Given the description of an element on the screen output the (x, y) to click on. 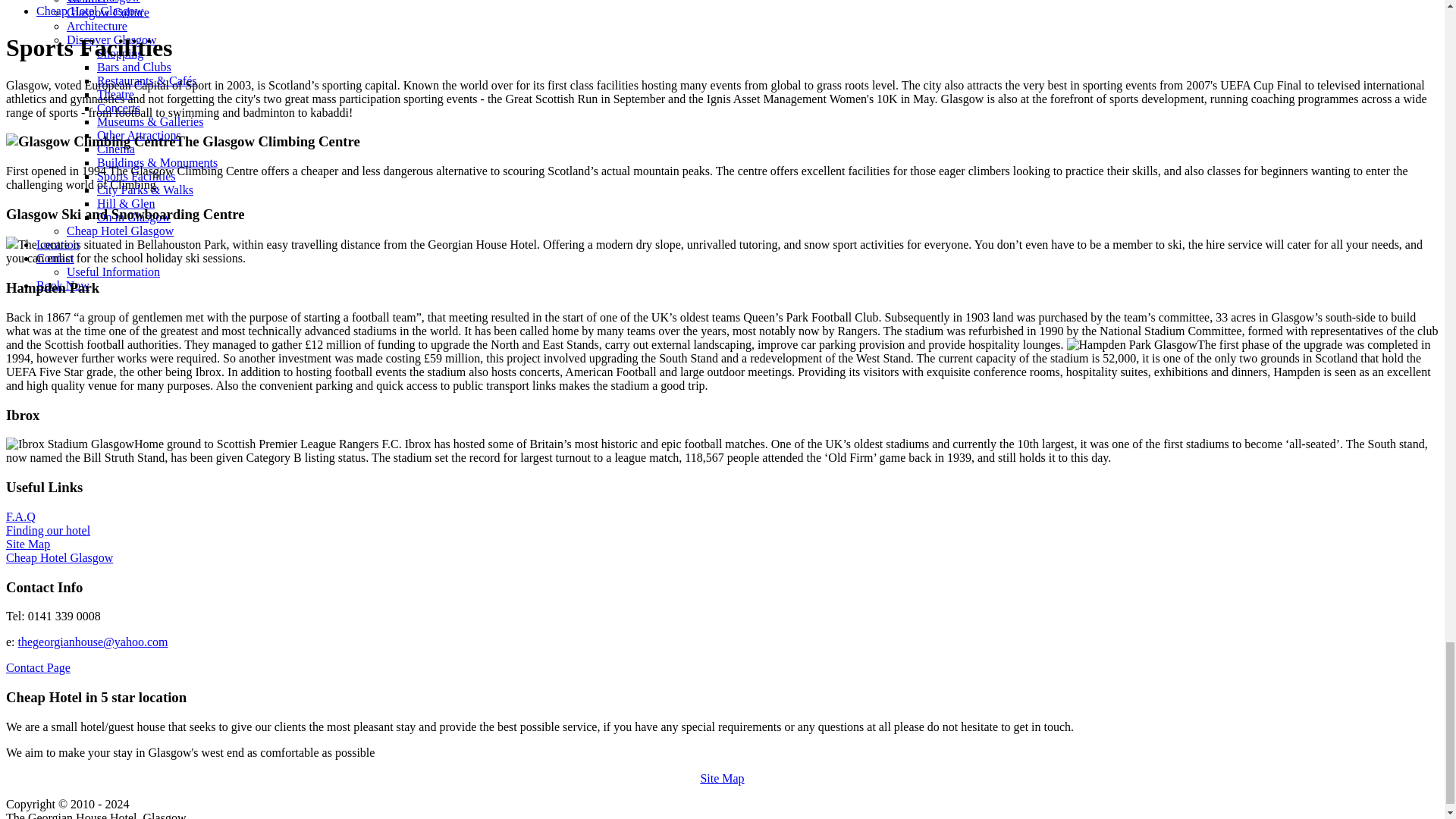
Finding our hotel (47, 530)
Site Map (722, 778)
Site Map (27, 543)
F.A.Q (19, 516)
Cheap Hotel Glasgow (59, 557)
Contact Page (37, 667)
